Given the description of an element on the screen output the (x, y) to click on. 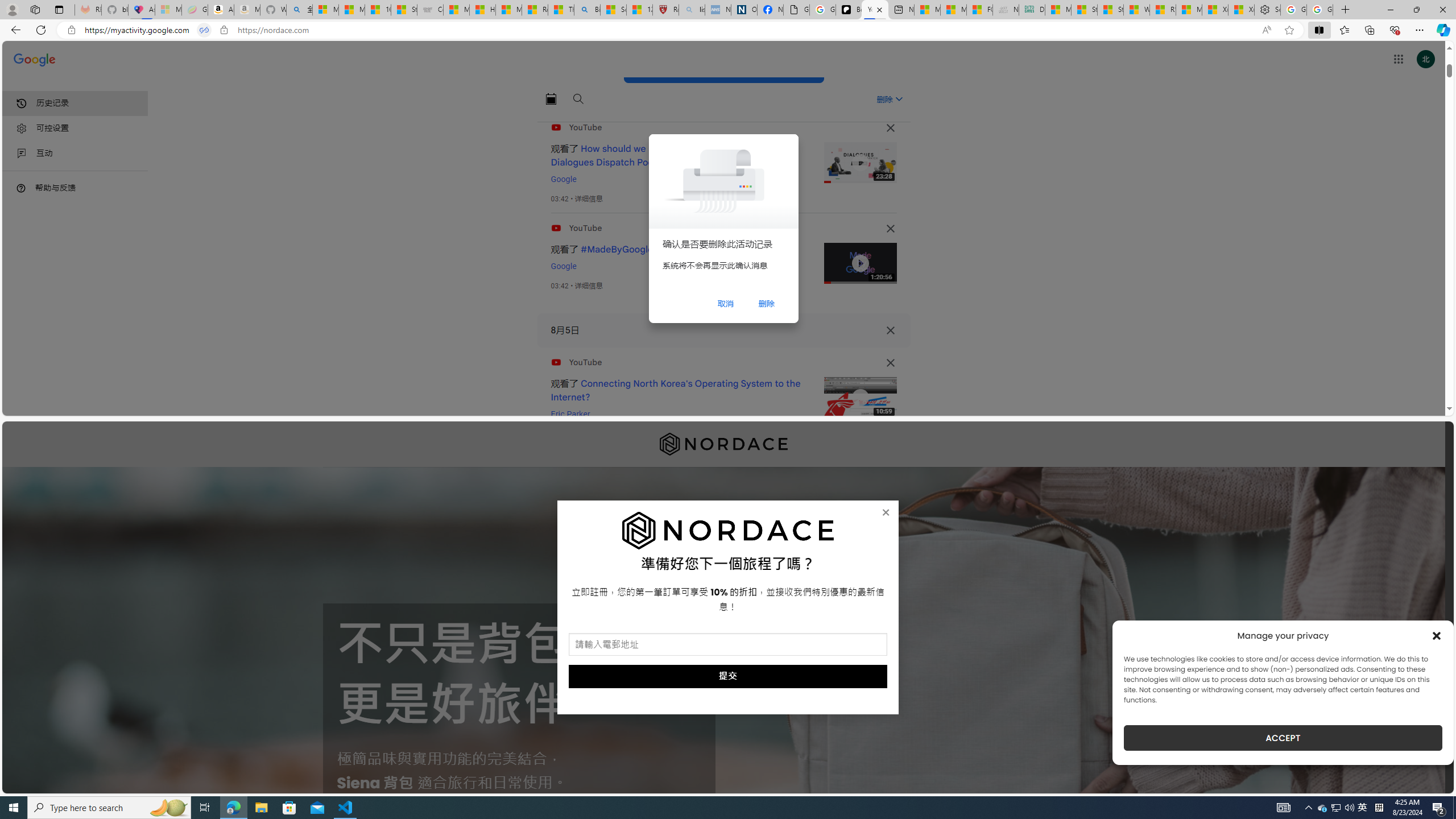
Class: DTiKkd NMm5M (21, 188)
How I Got Rid of Microsoft Edge's Unnecessary Features (482, 9)
